Given the description of an element on the screen output the (x, y) to click on. 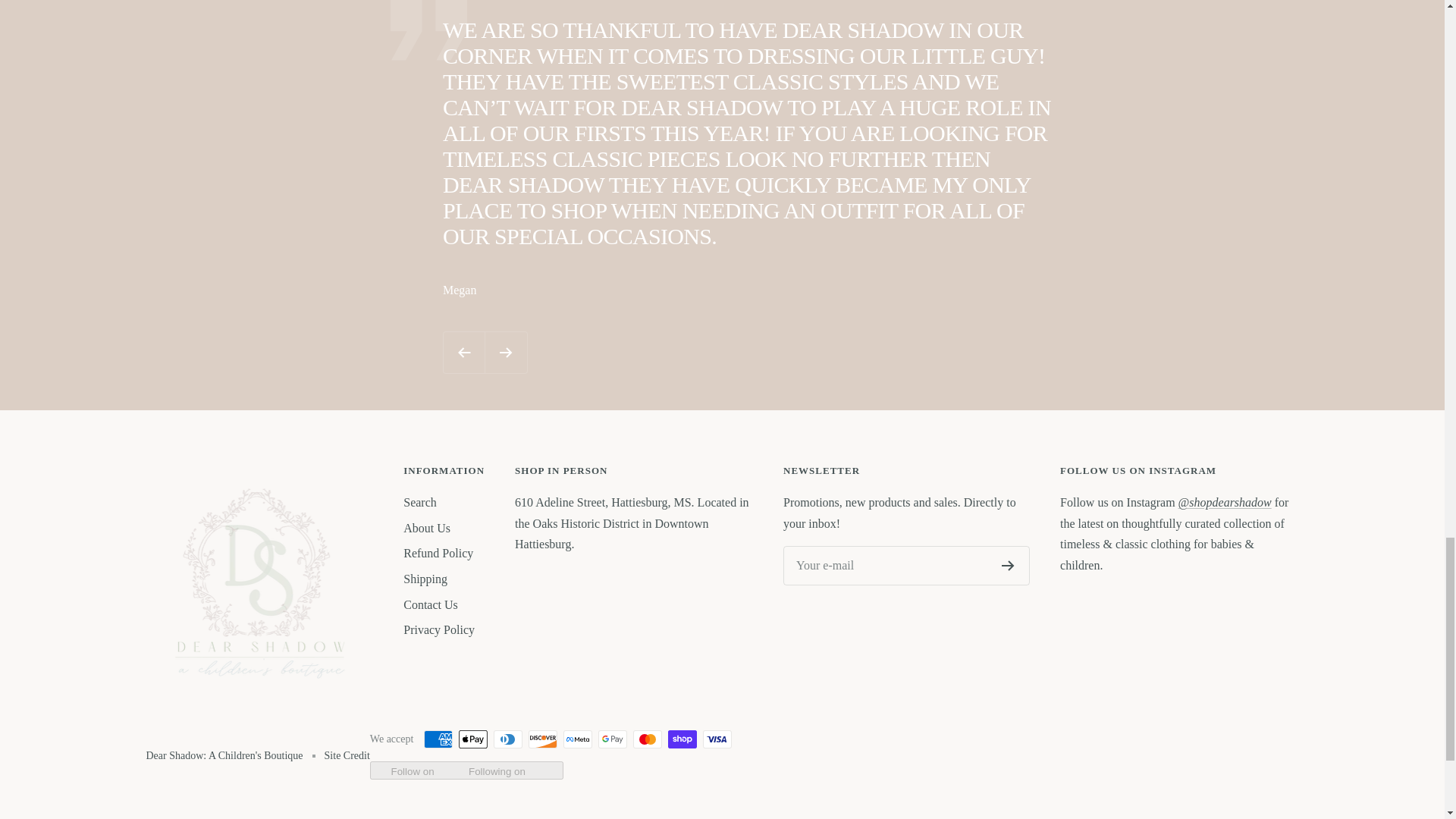
Register (1007, 565)
